Given the description of an element on the screen output the (x, y) to click on. 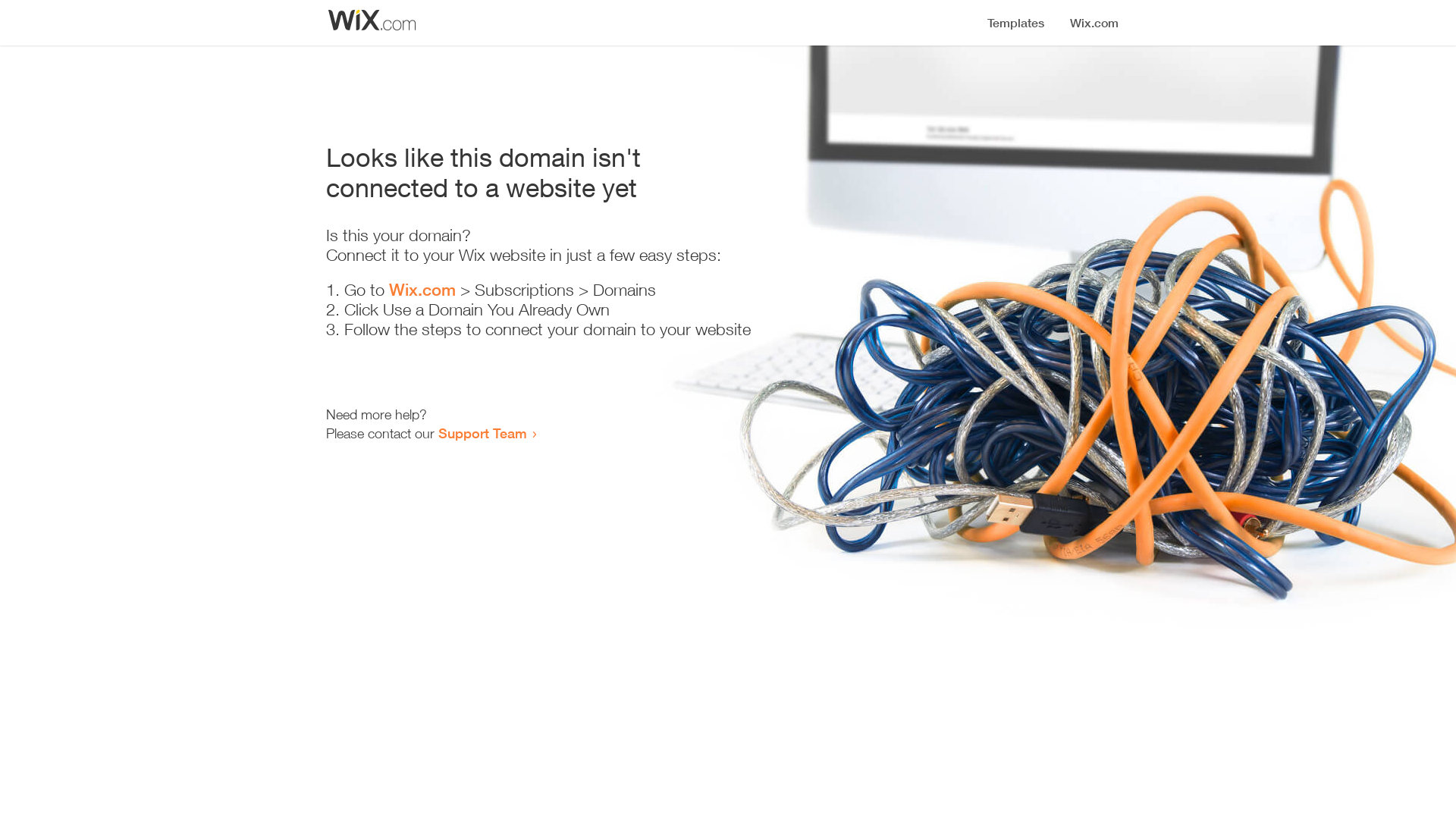
Wix.com Element type: text (422, 289)
Support Team Element type: text (482, 432)
